Given the description of an element on the screen output the (x, y) to click on. 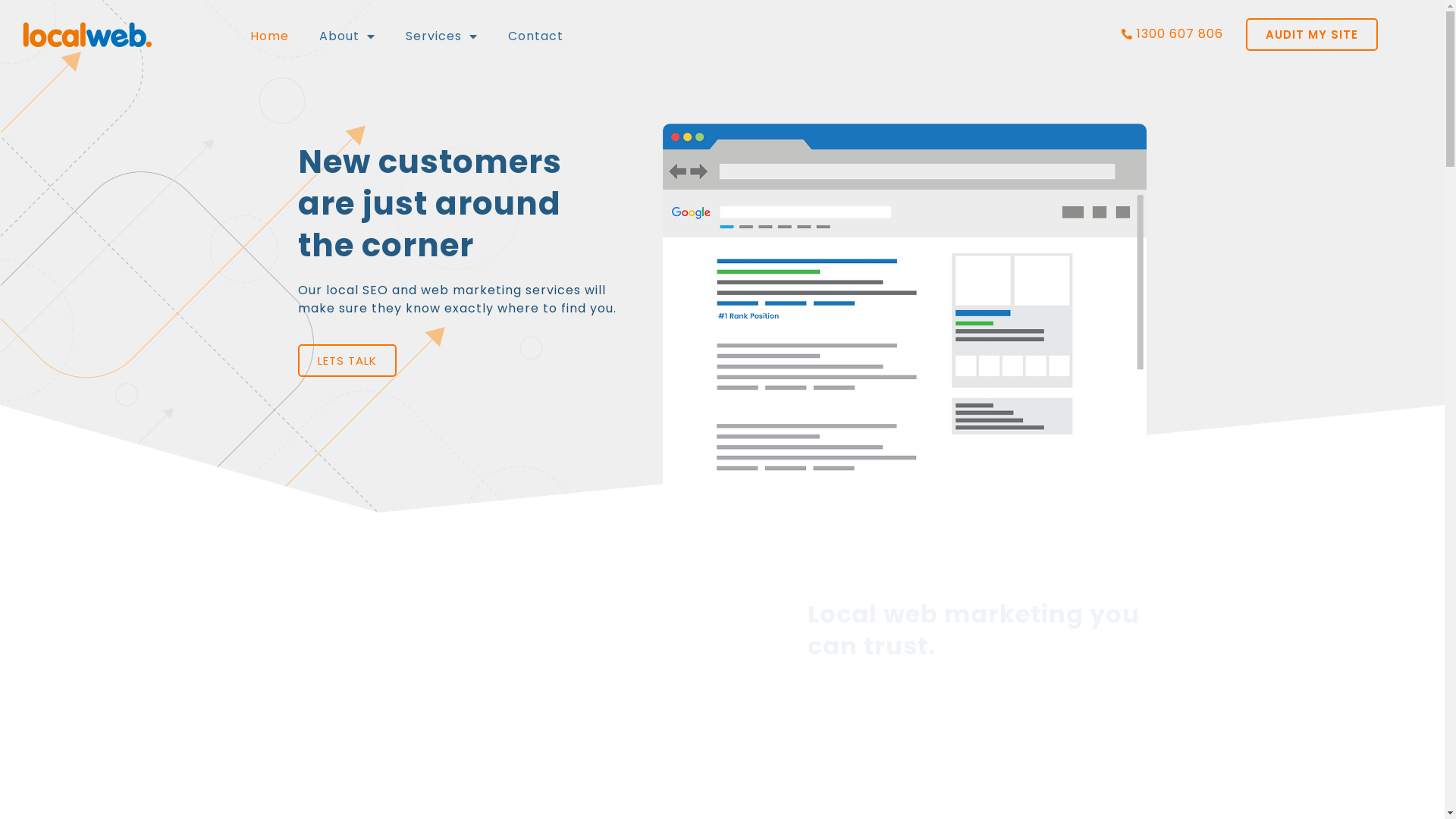
Services Element type: text (441, 35)
About Element type: text (347, 35)
1300 607 806 Element type: text (1132, 34)
Contact Element type: text (535, 35)
LETS TALK Element type: text (346, 360)
Home Element type: text (269, 35)
AUDIT MY SITE Element type: text (1311, 34)
